Given the description of an element on the screen output the (x, y) to click on. 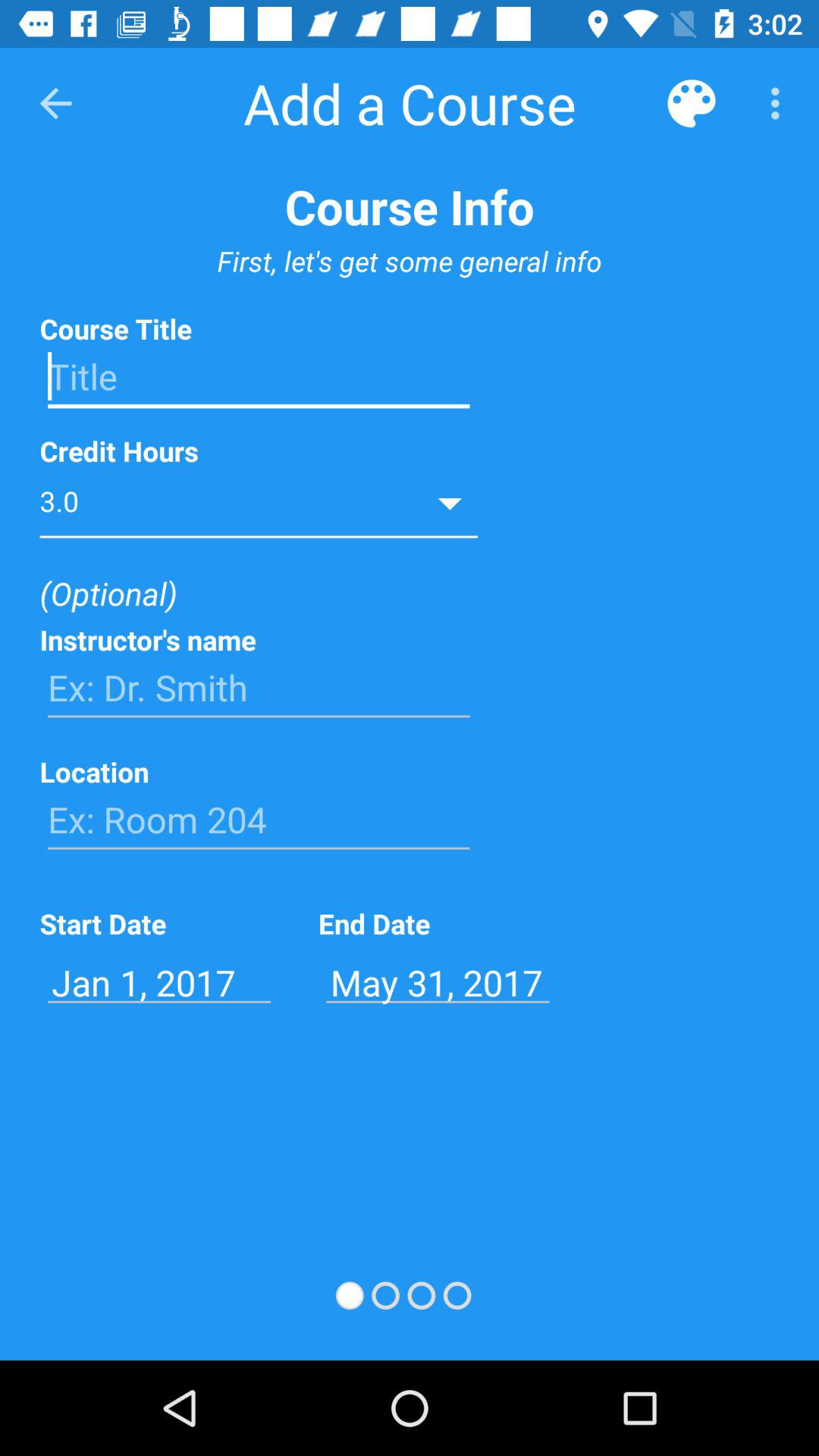
enter location (258, 820)
